Given the description of an element on the screen output the (x, y) to click on. 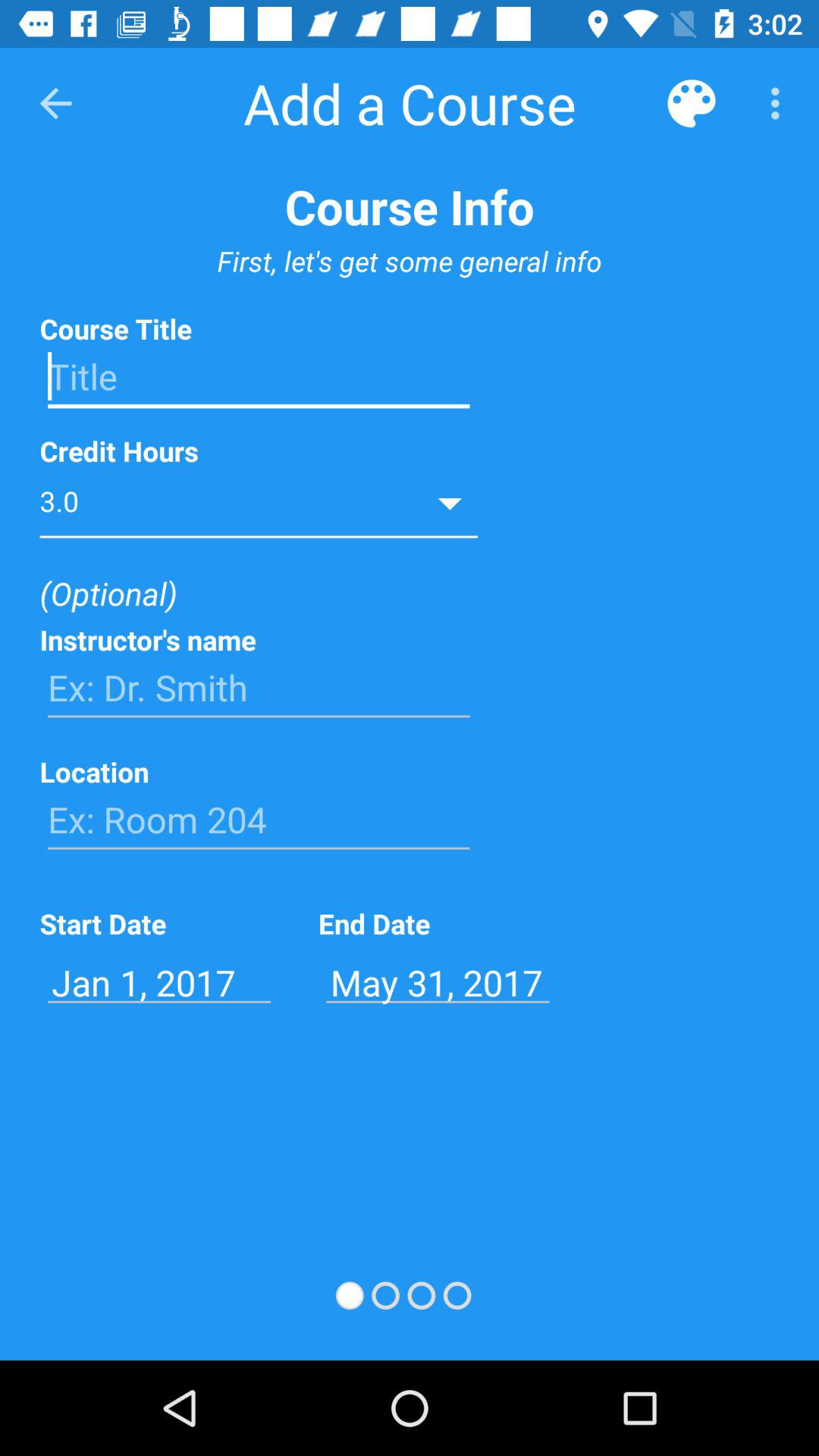
enter location (258, 820)
